Given the description of an element on the screen output the (x, y) to click on. 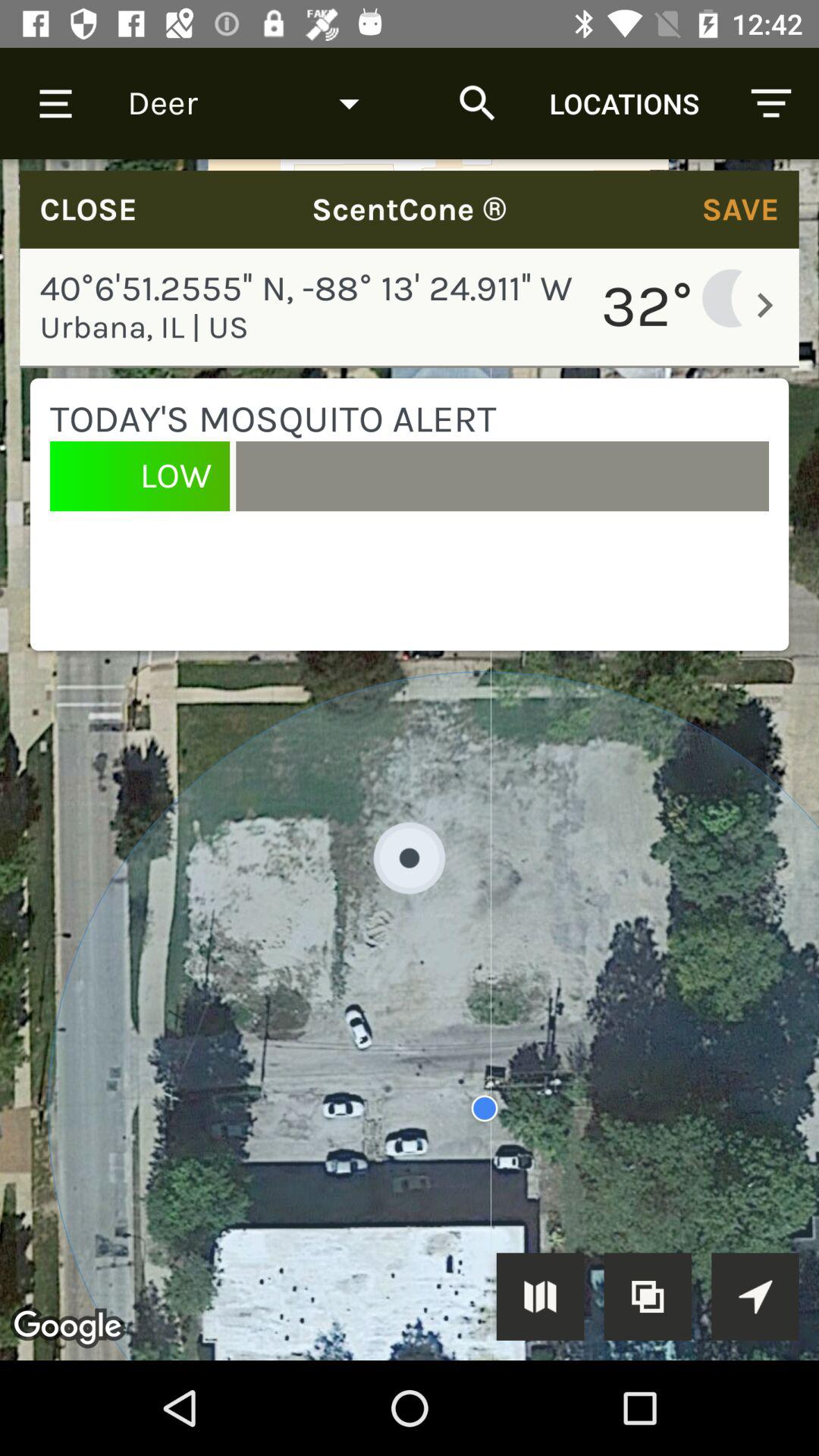
get directions (755, 1296)
